Given the description of an element on the screen output the (x, y) to click on. 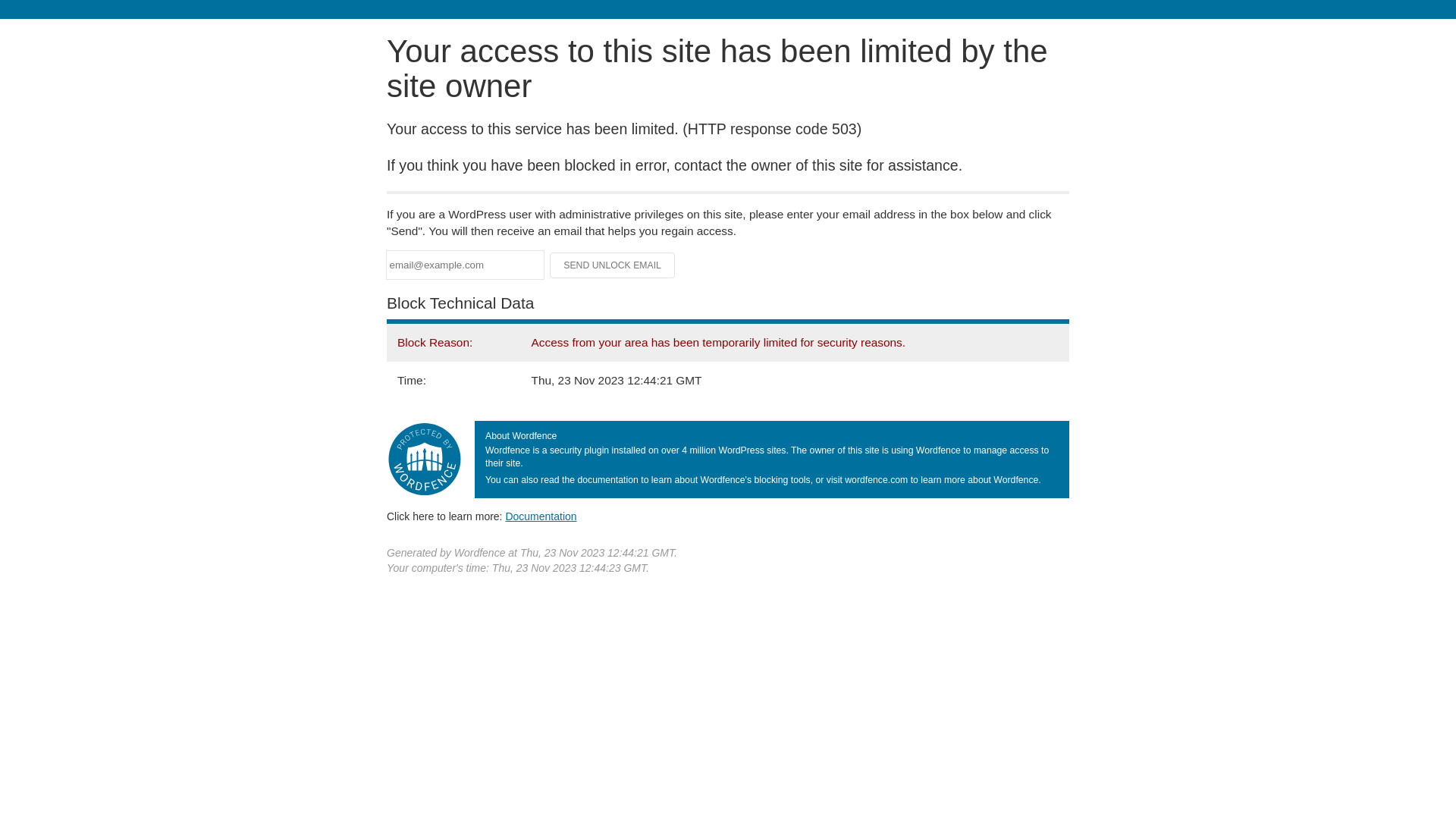
Documentation Element type: text (540, 516)
Send Unlock Email Element type: text (612, 265)
